Given the description of an element on the screen output the (x, y) to click on. 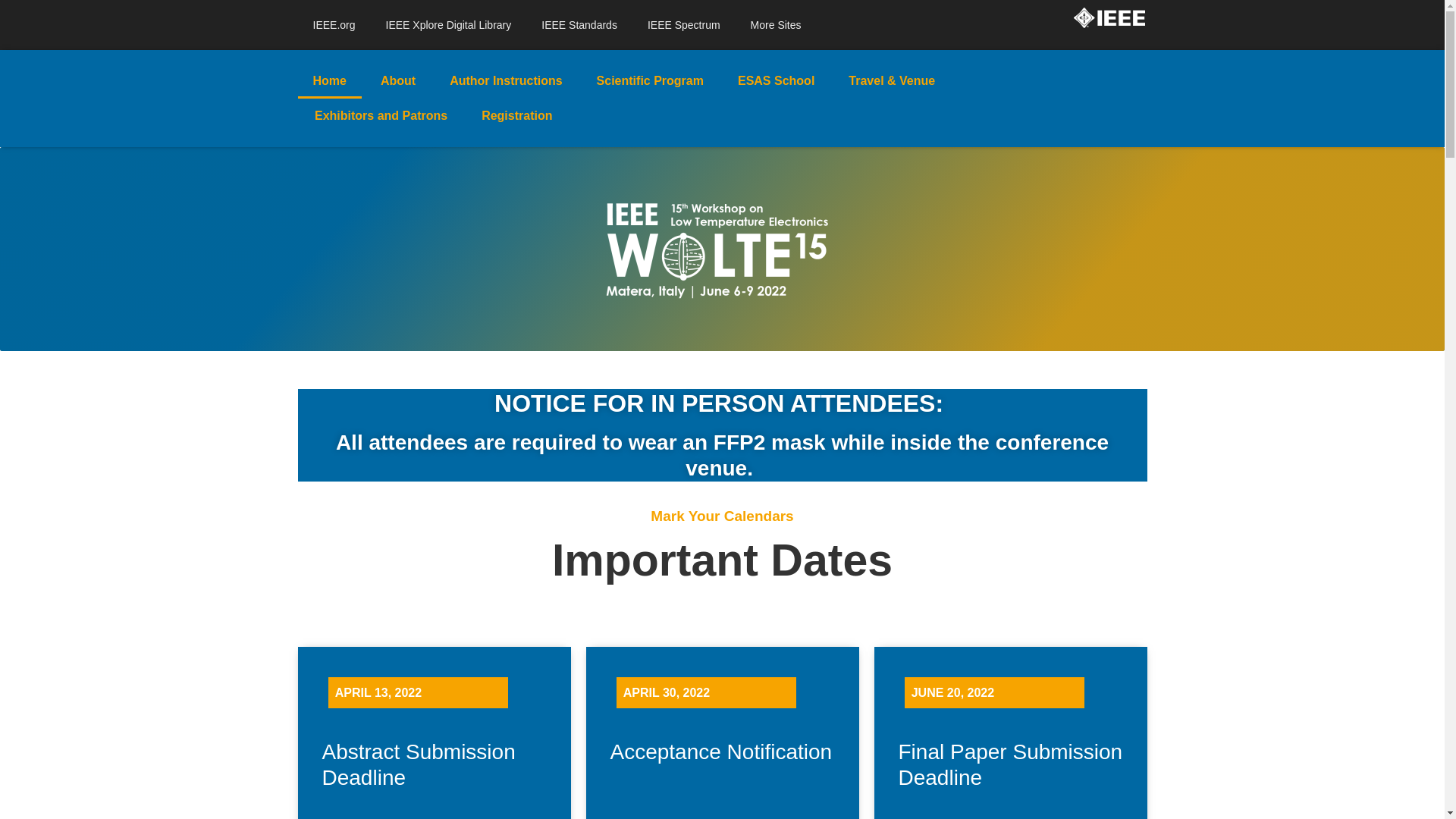
Home (329, 80)
About (397, 80)
Exhibitors and Patrons (381, 115)
IEEE Spectrum (683, 24)
More Sites (775, 24)
Author Instructions (504, 80)
Scientific Program (649, 80)
IEEE.org (333, 24)
IEEE Standards (578, 24)
IEEE Xplore Digital Library (449, 24)
ESAS School (775, 80)
